Given the description of an element on the screen output the (x, y) to click on. 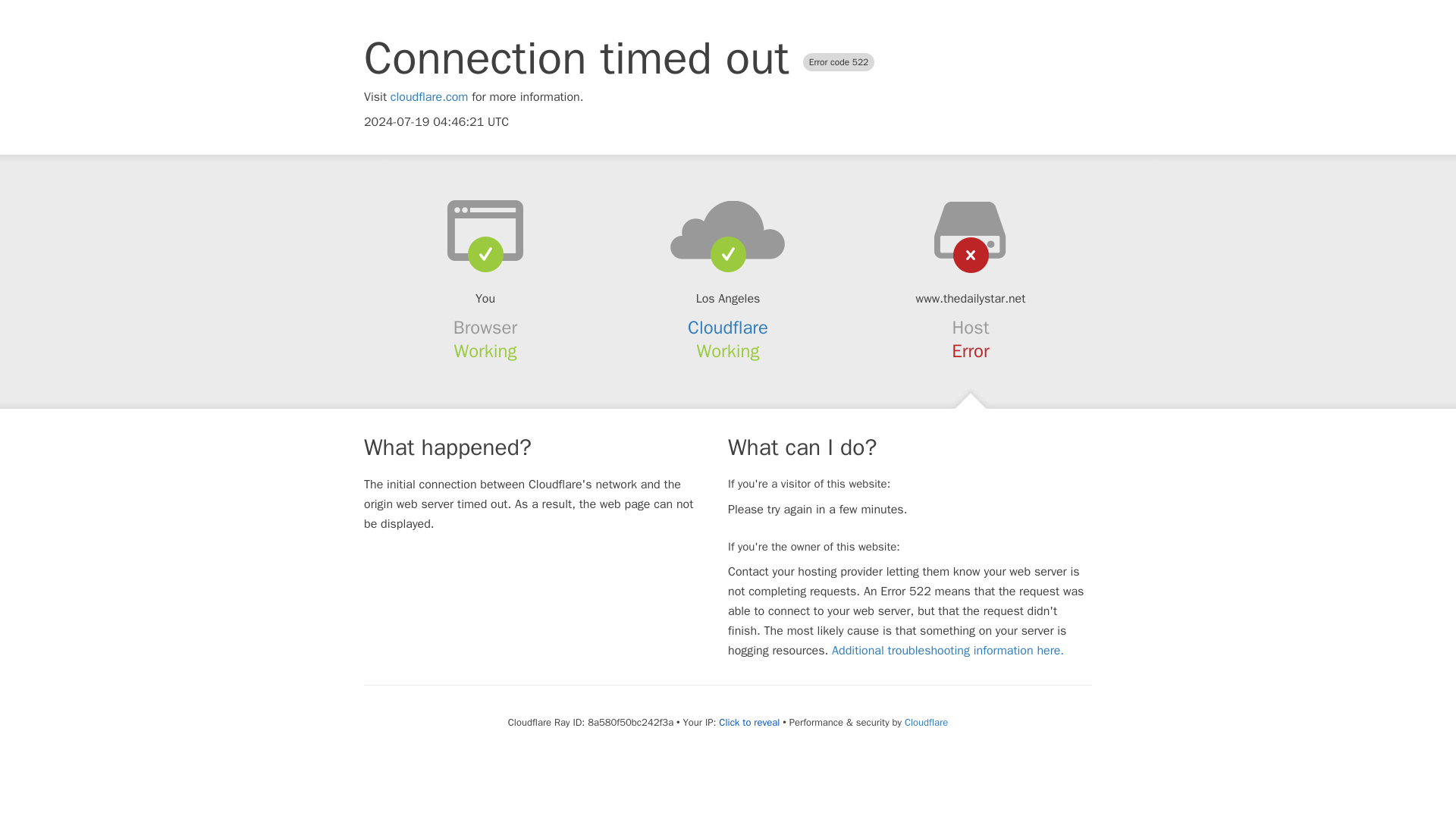
Cloudflare (925, 721)
Additional troubleshooting information here. (947, 650)
Cloudflare (727, 327)
Click to reveal (748, 722)
cloudflare.com (429, 96)
